Given the description of an element on the screen output the (x, y) to click on. 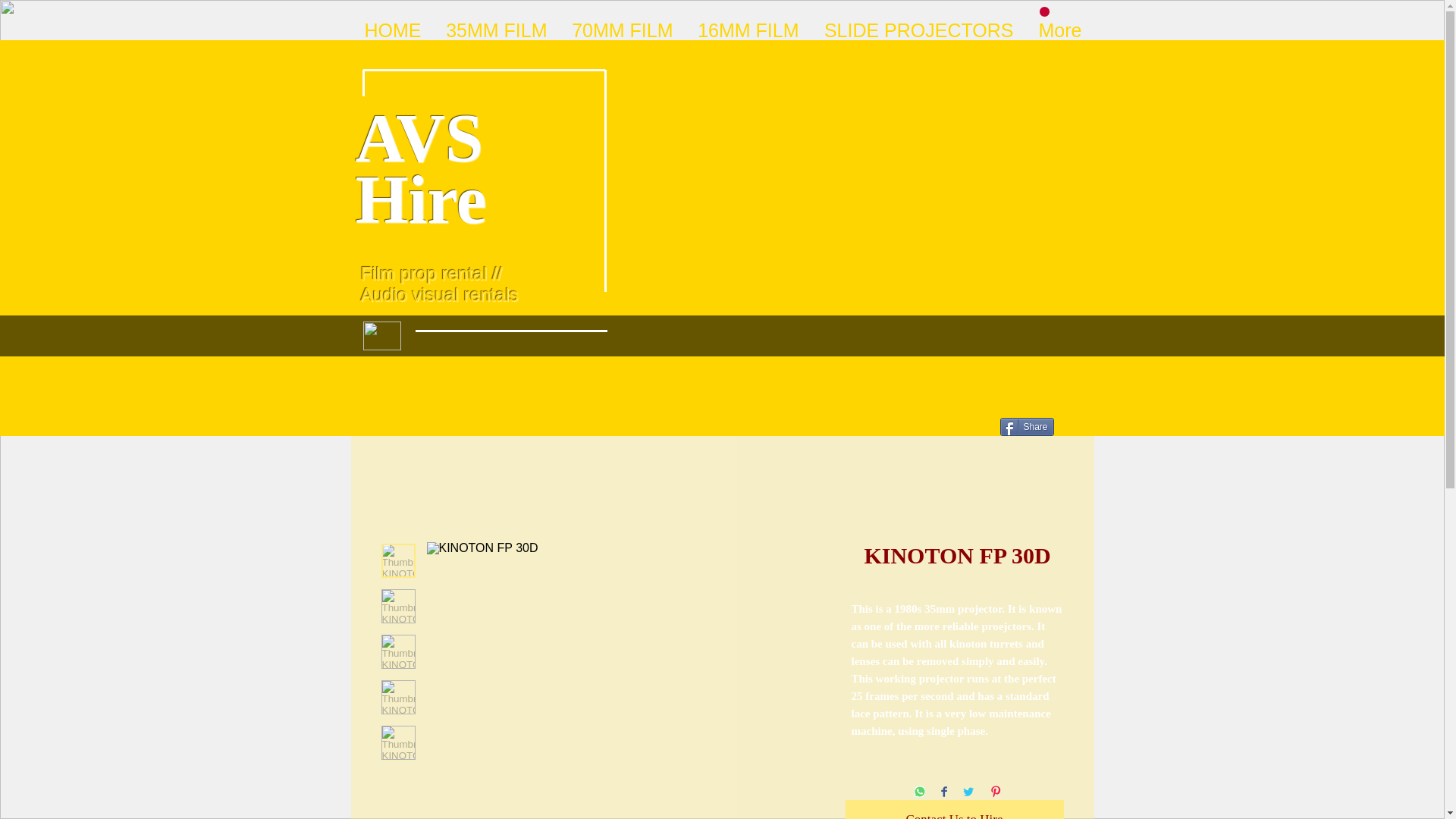
Share (1025, 426)
Contact Us to Hire (953, 809)
AVS (418, 138)
16MM FILM (746, 28)
SLIDE PROJECTORS (917, 28)
Share (1025, 426)
35MM FILM (494, 28)
70MM FILM (620, 28)
HOME (391, 28)
